Given the description of an element on the screen output the (x, y) to click on. 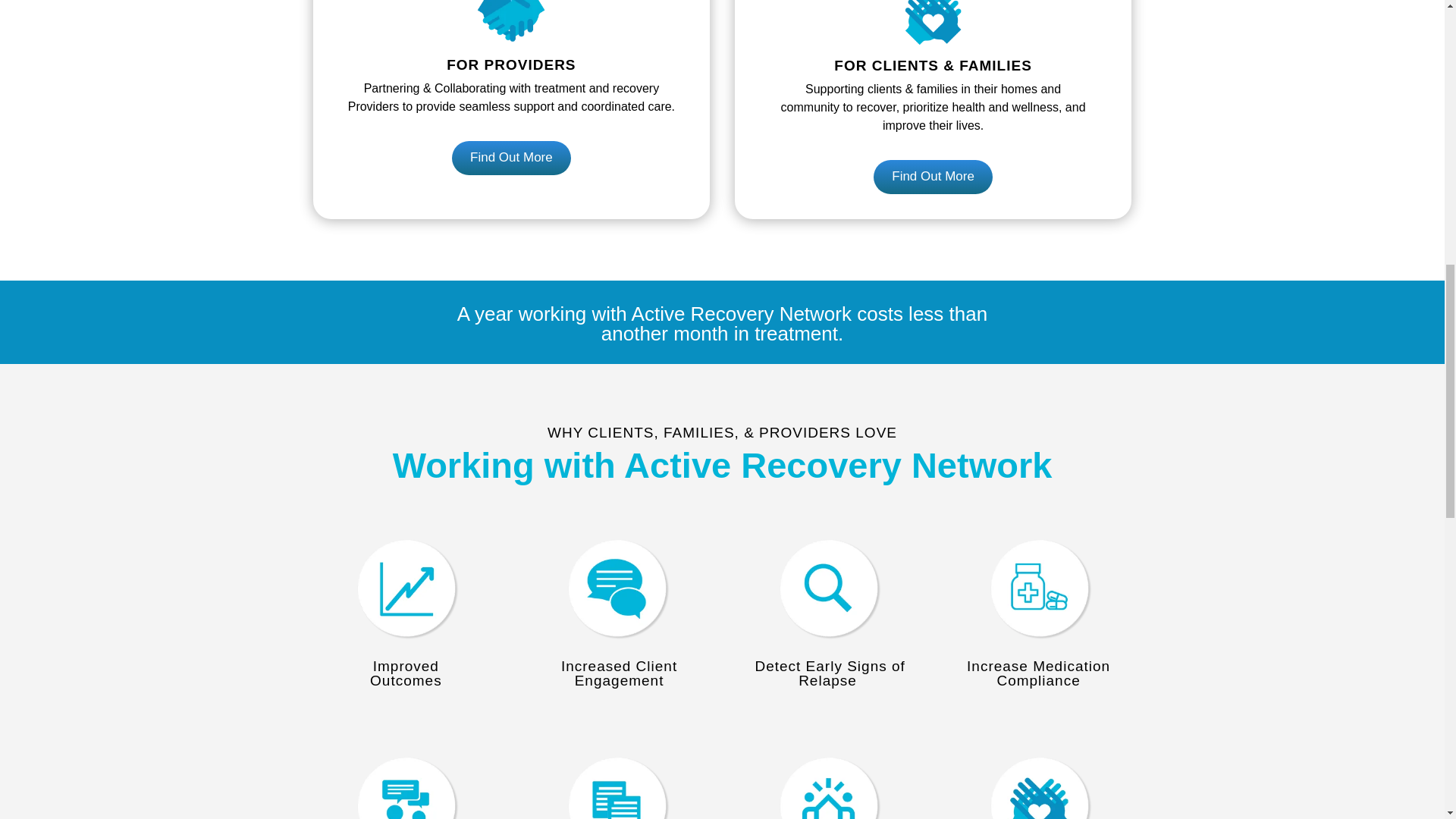
high5 (826, 784)
chat (615, 589)
pills (1038, 589)
mag (826, 589)
paper (615, 784)
graph (406, 589)
hands (1038, 784)
chat2 (406, 784)
